Given the description of an element on the screen output the (x, y) to click on. 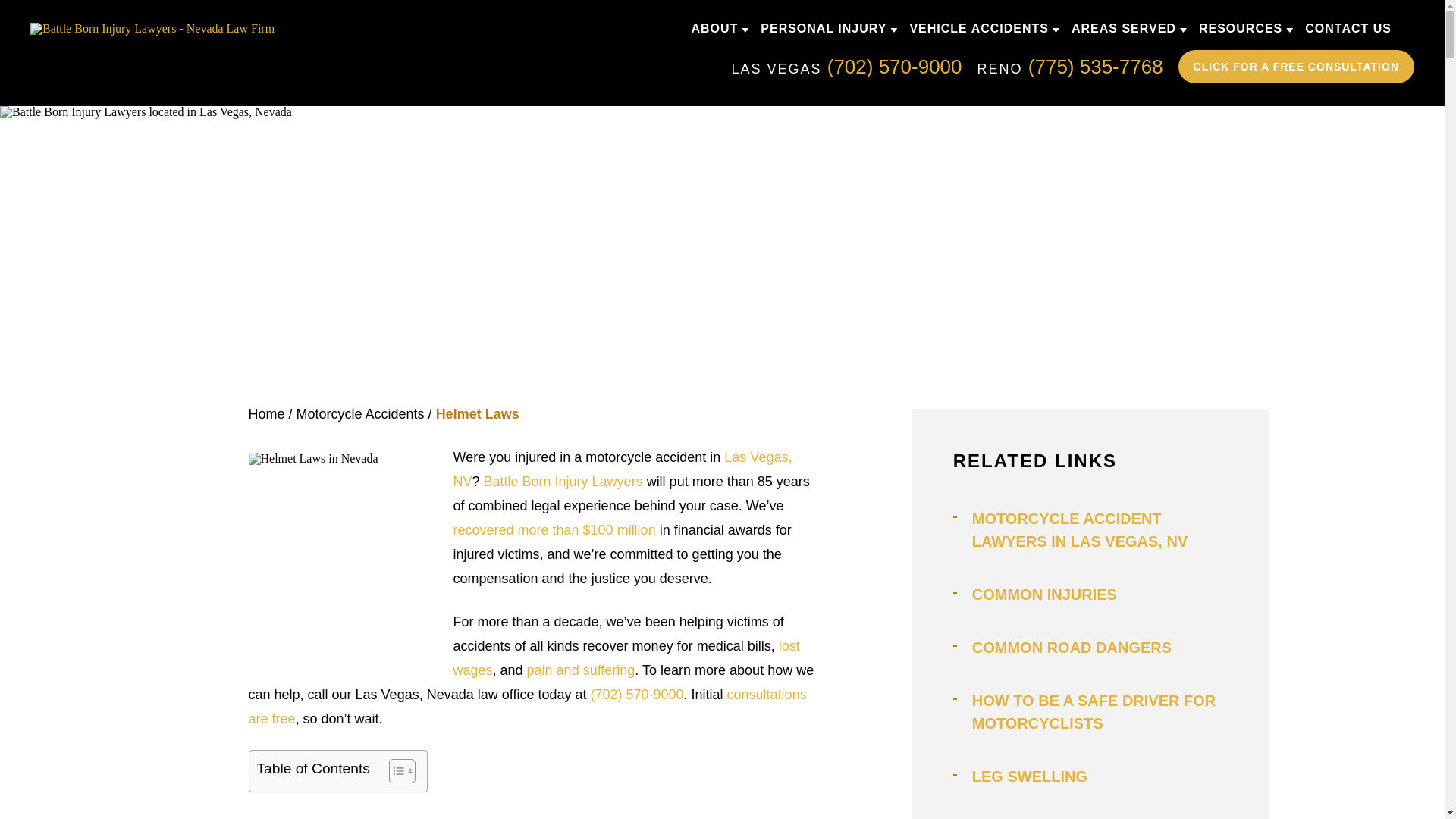
RESOURCES (1240, 28)
CLICK FOR A FREE CONSULTATION (1295, 66)
Motorcycle Accidents (361, 413)
ABOUT (714, 28)
AREAS SERVED (1123, 28)
Home (266, 413)
Las Vegas, NV (622, 468)
CONTACT US (1347, 28)
PERSONAL INJURY (823, 28)
VEHICLE ACCIDENTS (978, 28)
